Given the description of an element on the screen output the (x, y) to click on. 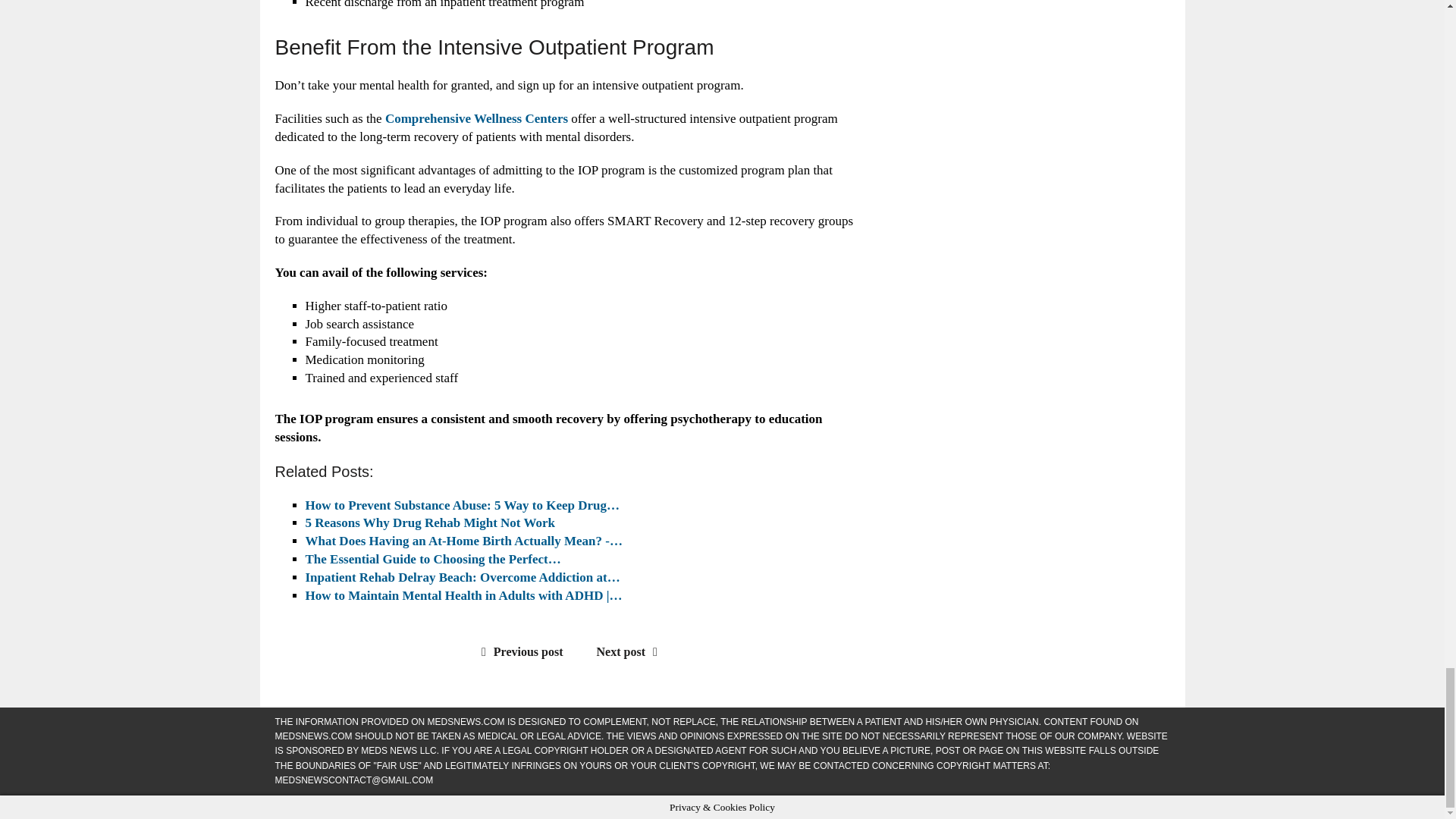
Next post (630, 651)
Previous post (518, 651)
Comprehensive Wellness Centers (476, 118)
5 Reasons Why Drug Rehab Might Not Work (429, 522)
